Given the description of an element on the screen output the (x, y) to click on. 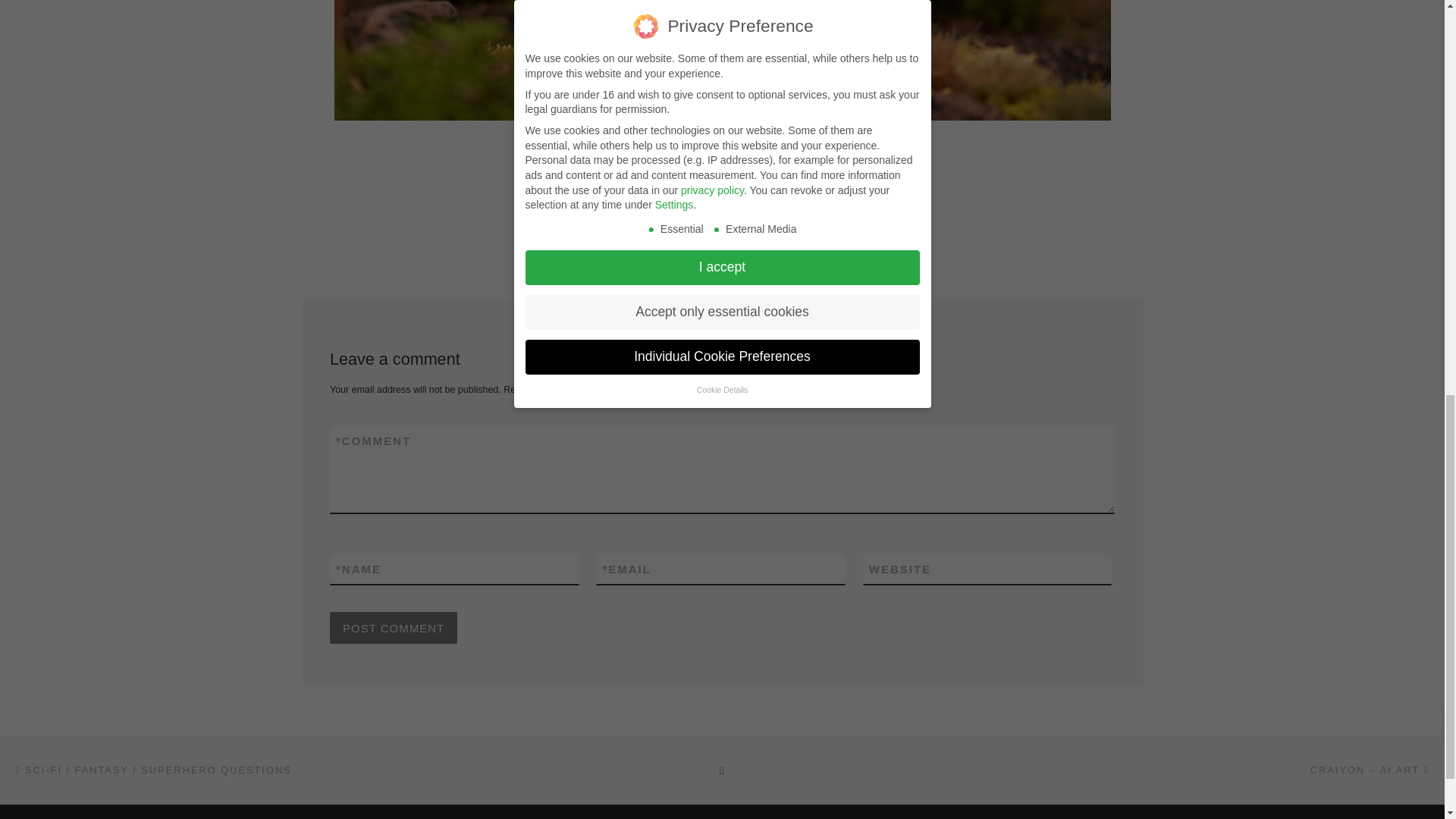
Post Comment (393, 627)
